Given the description of an element on the screen output the (x, y) to click on. 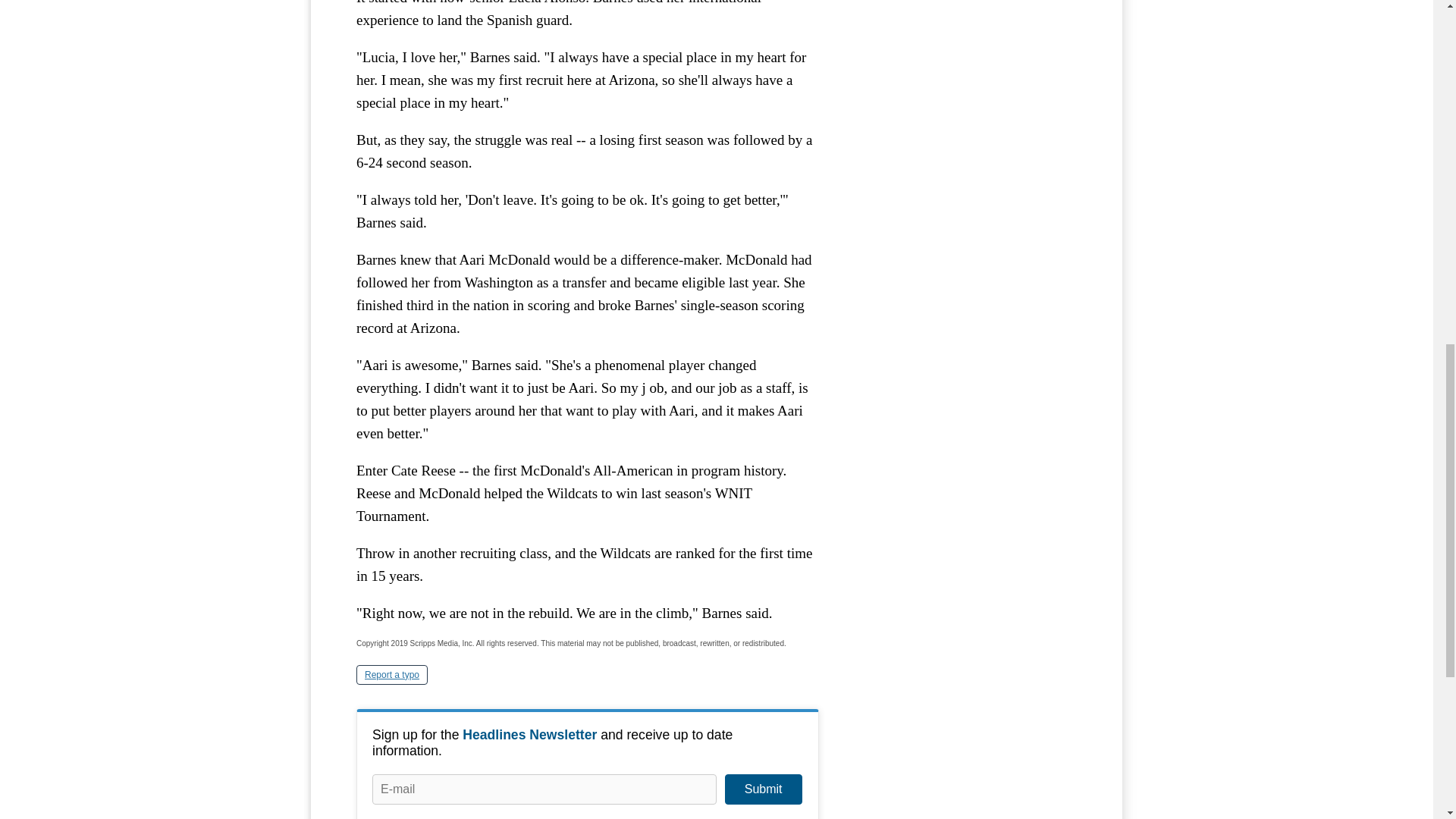
Submit (763, 788)
